Given the description of an element on the screen output the (x, y) to click on. 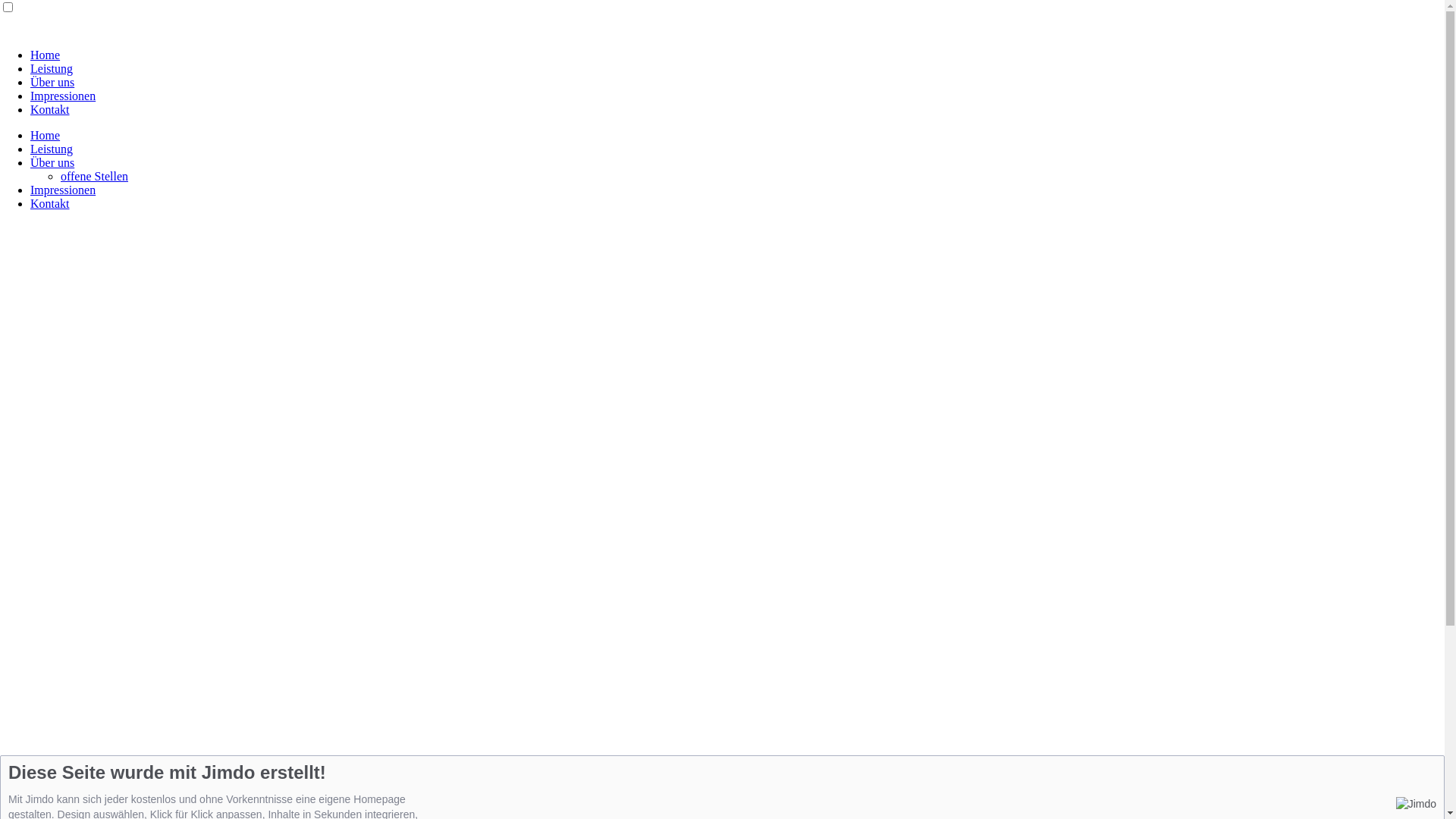
offene Stellen Element type: text (94, 175)
Kontakt Element type: text (49, 109)
Impressionen Element type: text (62, 189)
Home Element type: text (44, 54)
Leistung Element type: text (51, 148)
Impressionen Element type: text (62, 95)
Home Element type: text (44, 134)
Kontakt Element type: text (49, 203)
Leistung Element type: text (51, 68)
